Given the description of an element on the screen output the (x, y) to click on. 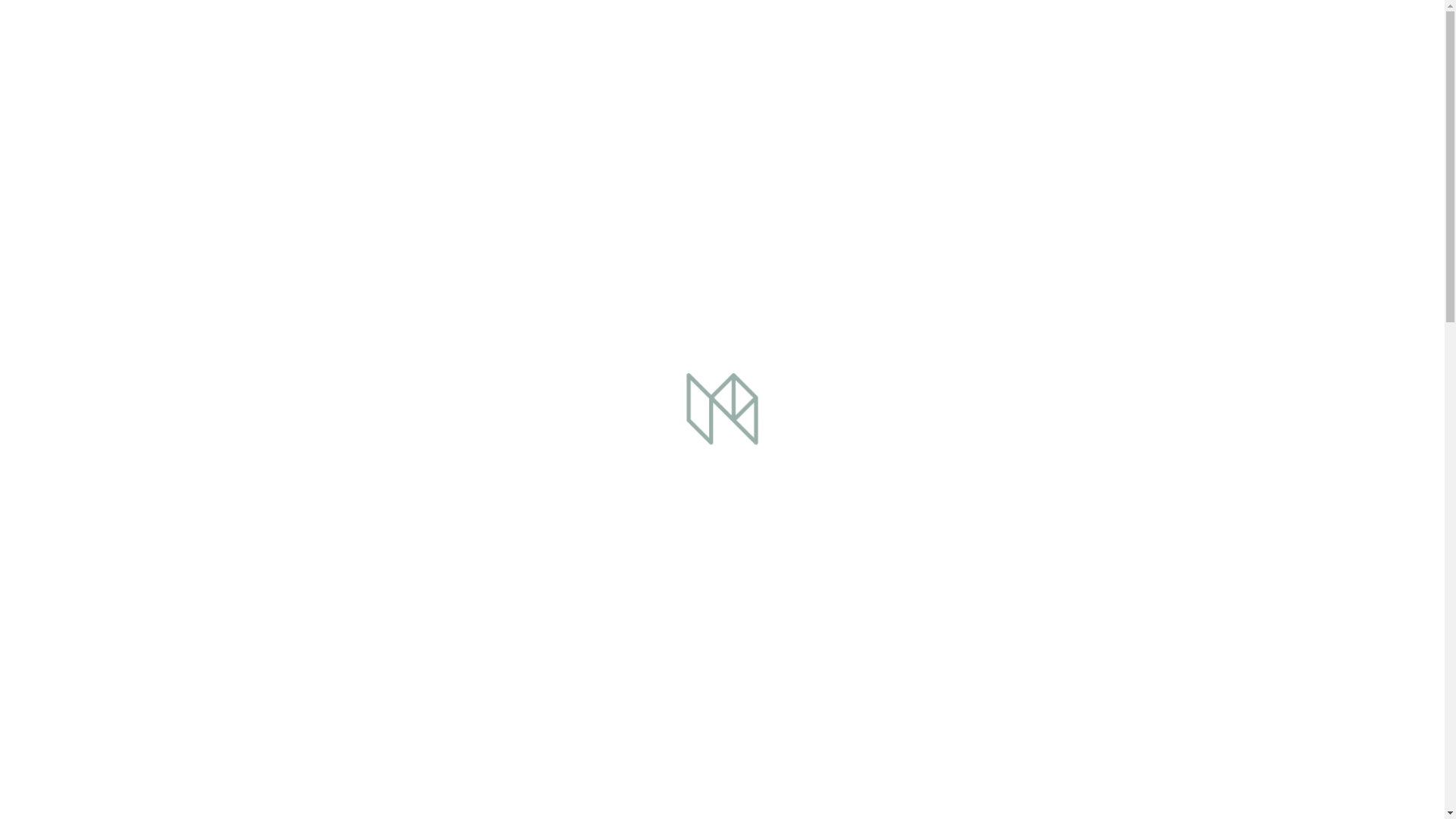
Next Post Element type: text (343, 618)
In The Media Element type: text (285, 232)
In The Media Element type: text (285, 701)
All Insights Element type: text (279, 618)
Minchin Moore Element type: hover (1400, 39)
Insights Element type: text (302, 108)
